Given the description of an element on the screen output the (x, y) to click on. 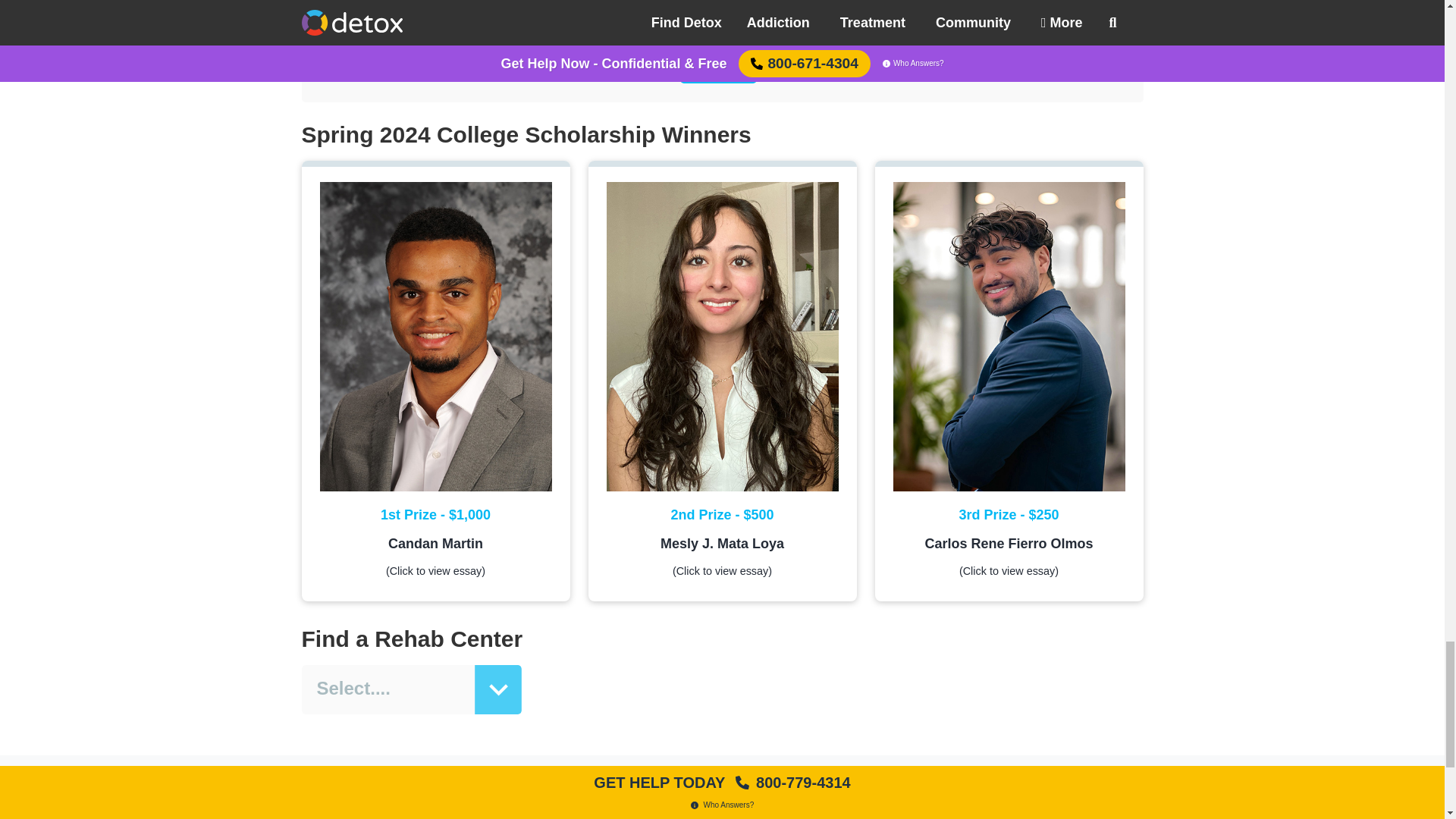
Follow us on Pinterest (772, 805)
Follow us on Twitter (705, 805)
Follow us on Instagram (738, 805)
Follow us on Facebook (671, 805)
Submit (718, 63)
